Given the description of an element on the screen output the (x, y) to click on. 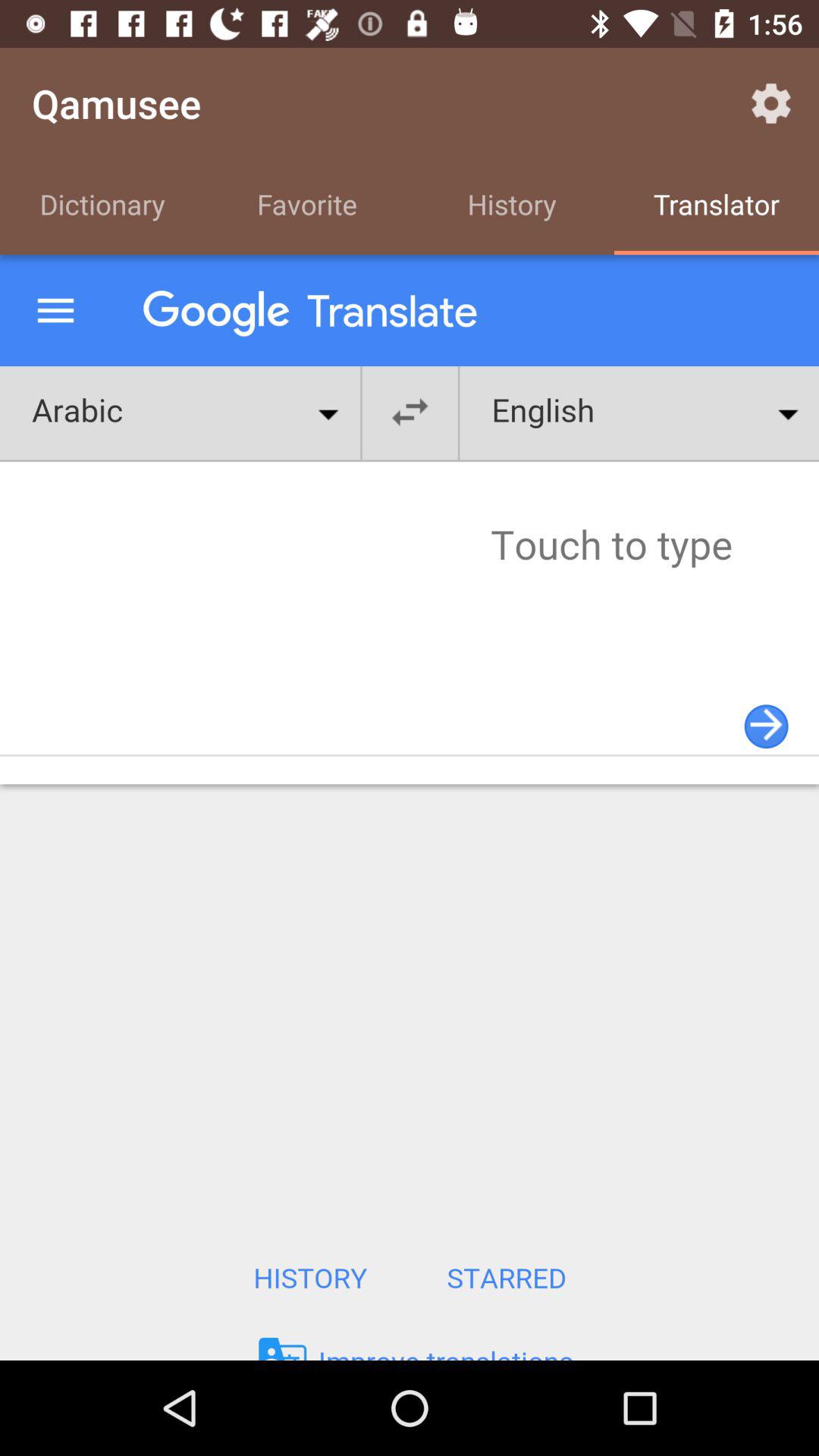
translate page (409, 807)
